Given the description of an element on the screen output the (x, y) to click on. 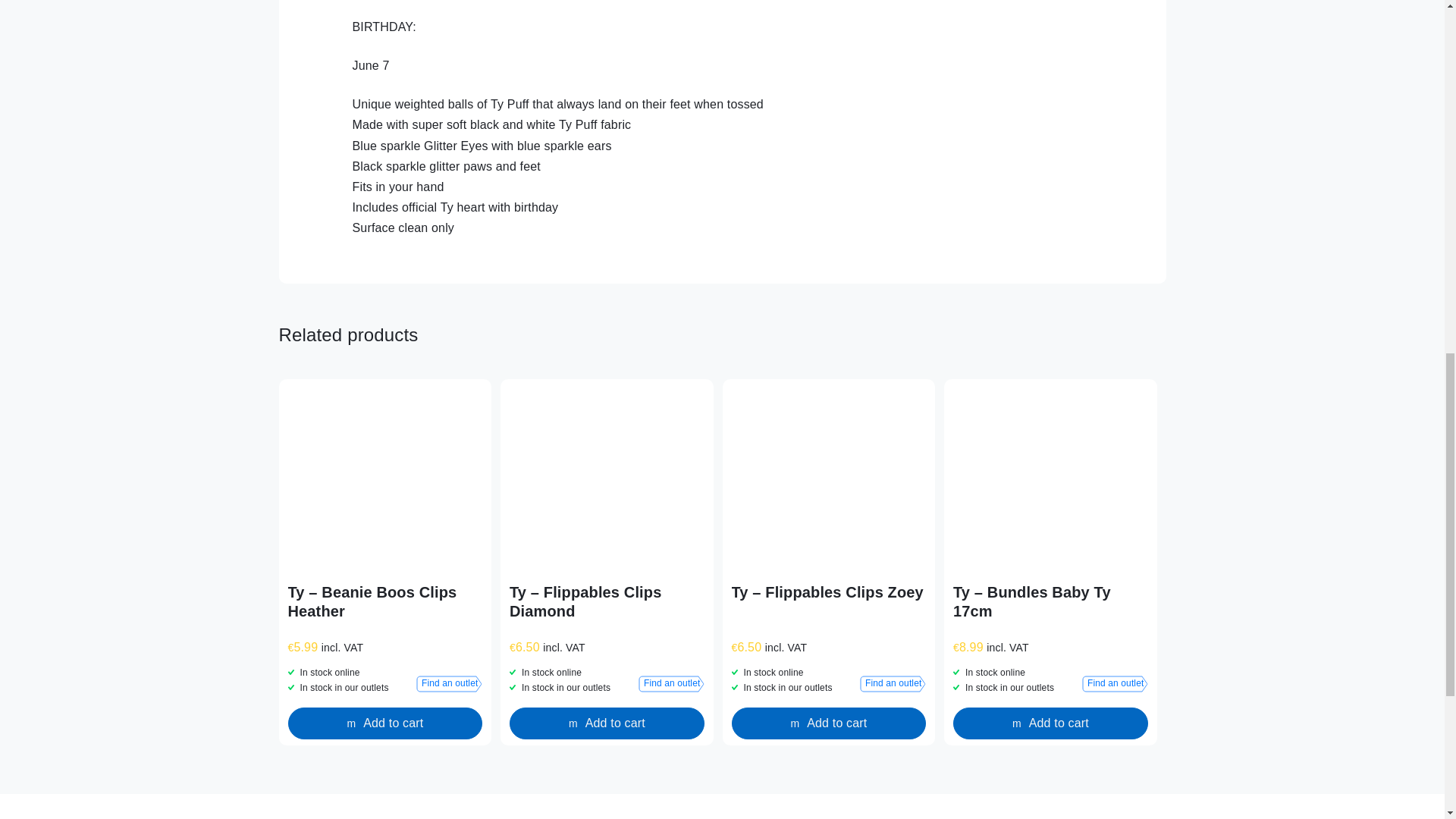
Find an outlet (448, 683)
Find an outlet (671, 683)
Find an outlet (893, 683)
Find an outlet (1114, 683)
